Given the description of an element on the screen output the (x, y) to click on. 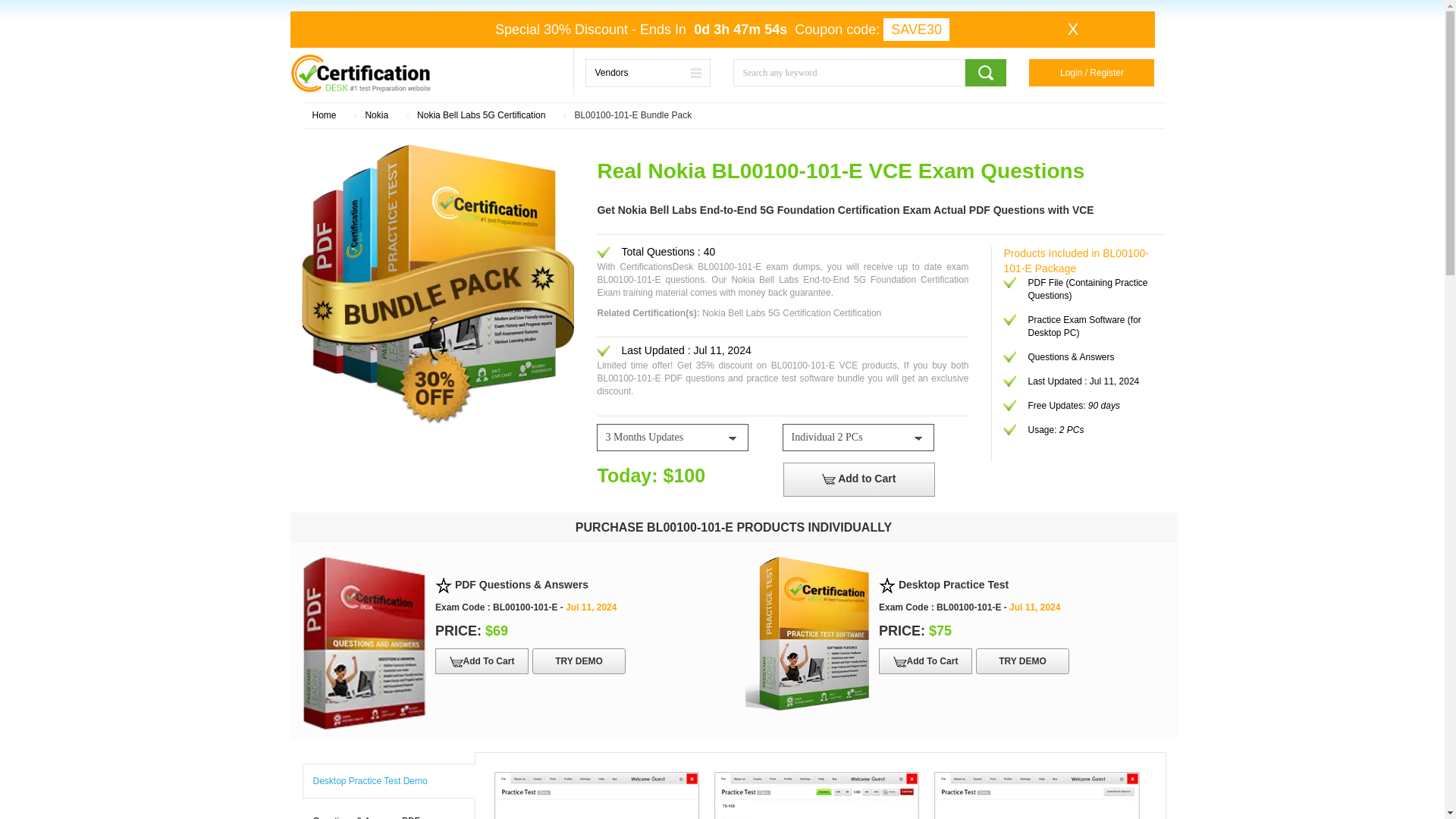
TRY DEMO (579, 661)
Nokia (376, 114)
Desktop Practice Test Demo (387, 780)
Add to Cart (858, 479)
Add To Cart (925, 661)
Nokia Bell Labs 5G Certification (480, 114)
TRY DEMO (1021, 661)
Add To Cart (481, 661)
Home (324, 114)
